Given the description of an element on the screen output the (x, y) to click on. 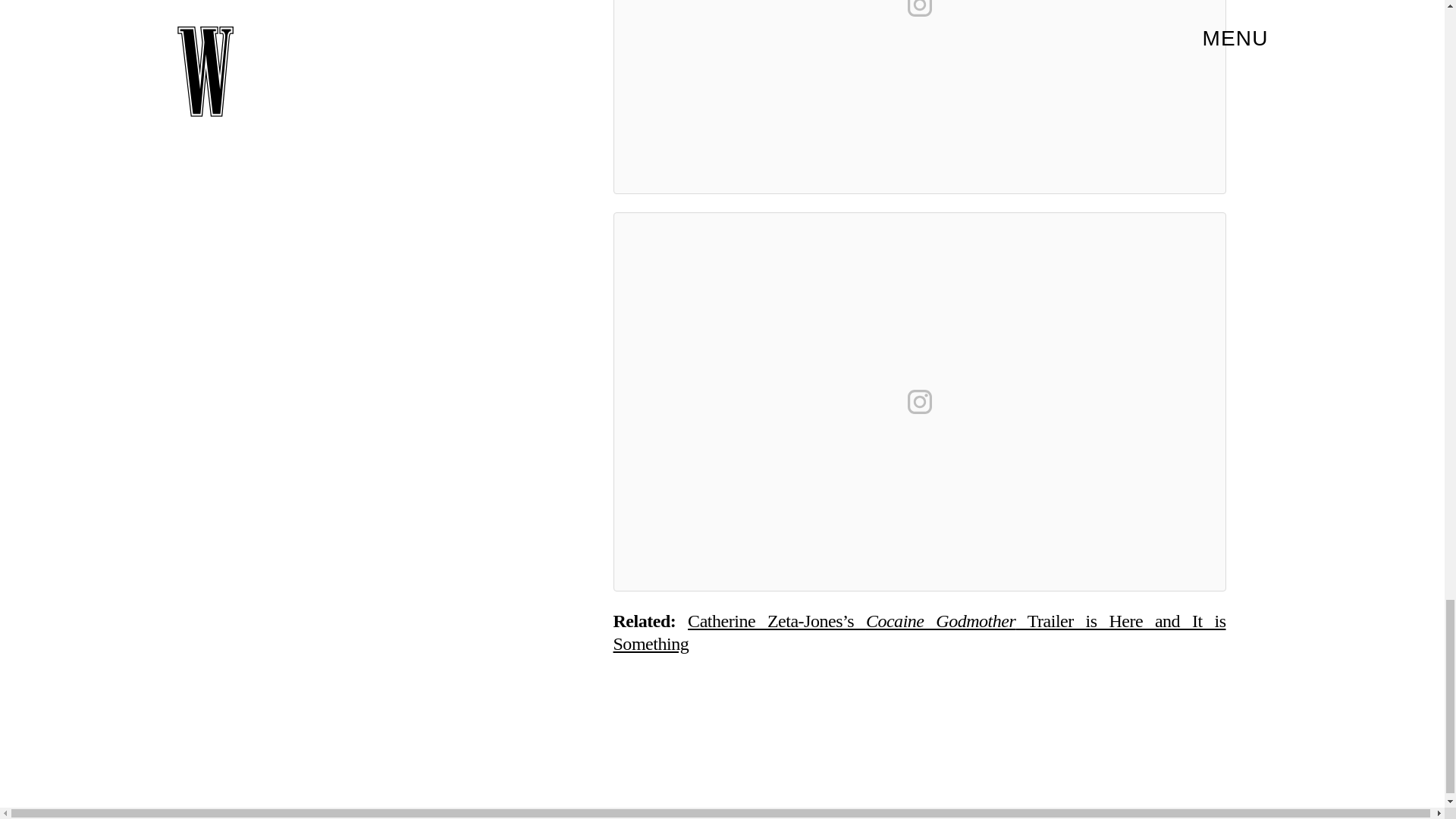
View on Instagram (919, 11)
View on Instagram (919, 402)
